Given the description of an element on the screen output the (x, y) to click on. 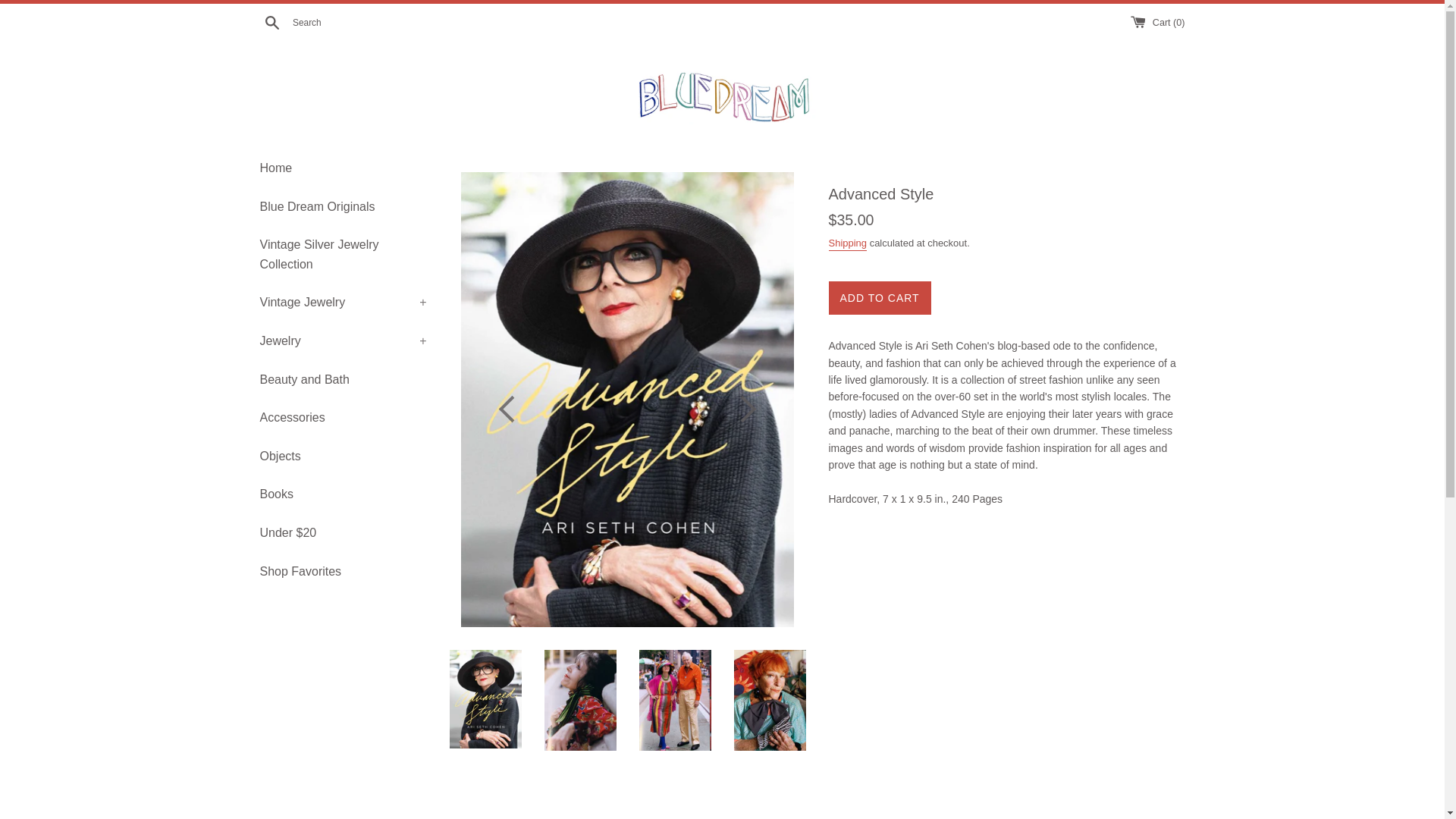
Beauty and Bath (342, 379)
Search (271, 21)
Books (342, 494)
ADD TO CART (879, 298)
Blue Dream Originals (342, 207)
Objects (342, 456)
Shop Favorites (342, 571)
Vintage Silver Jewelry Collection (342, 254)
Accessories (342, 417)
Shipping (847, 243)
Home (342, 168)
